Given the description of an element on the screen output the (x, y) to click on. 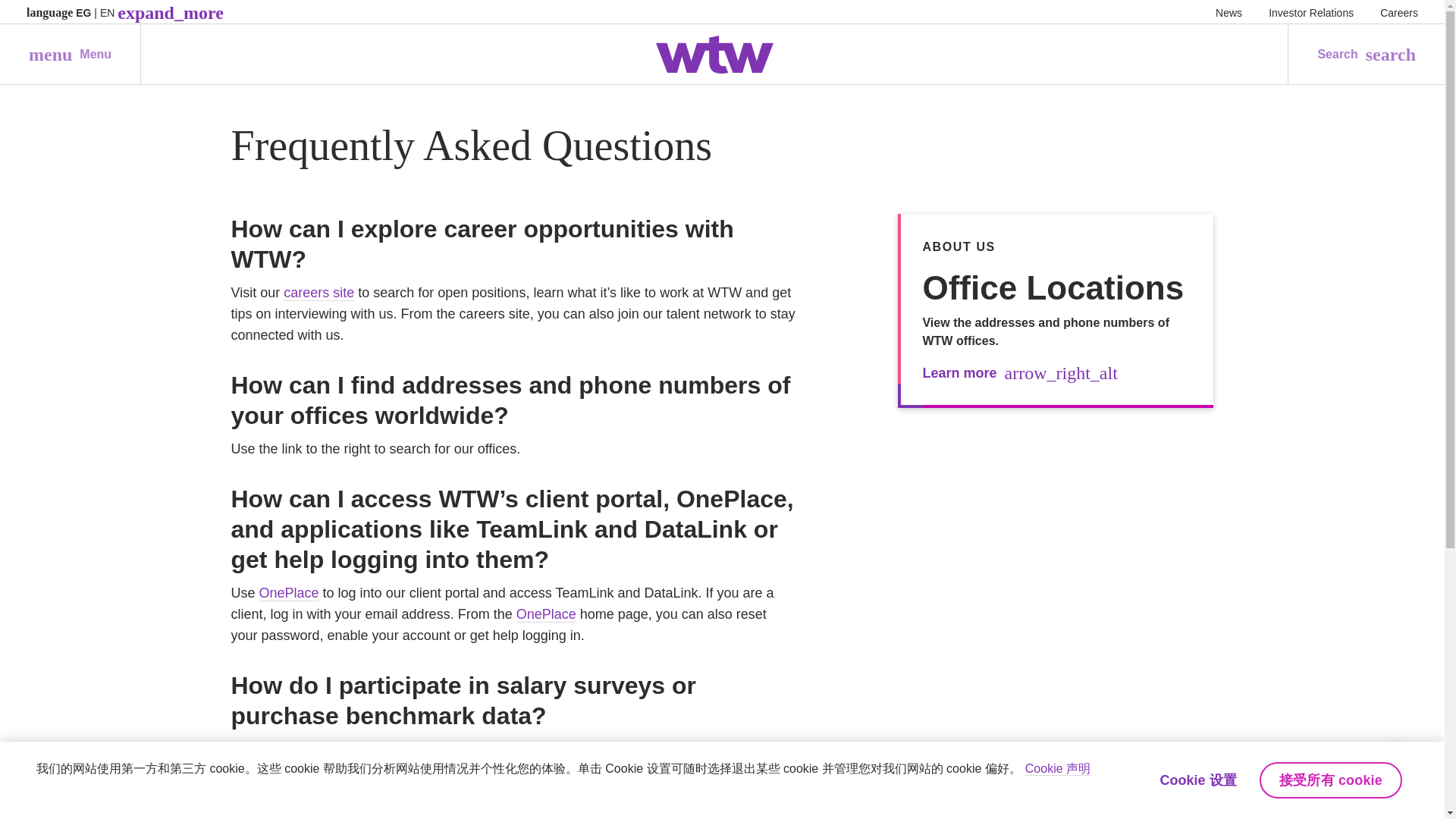
Investor Relations (1311, 12)
News (1228, 12)
Navigate to OnePlace (288, 593)
Navigate to Data Services Home Page (69, 54)
Careers (385, 749)
Navigate to OnePlace (1399, 12)
